Given the description of an element on the screen output the (x, y) to click on. 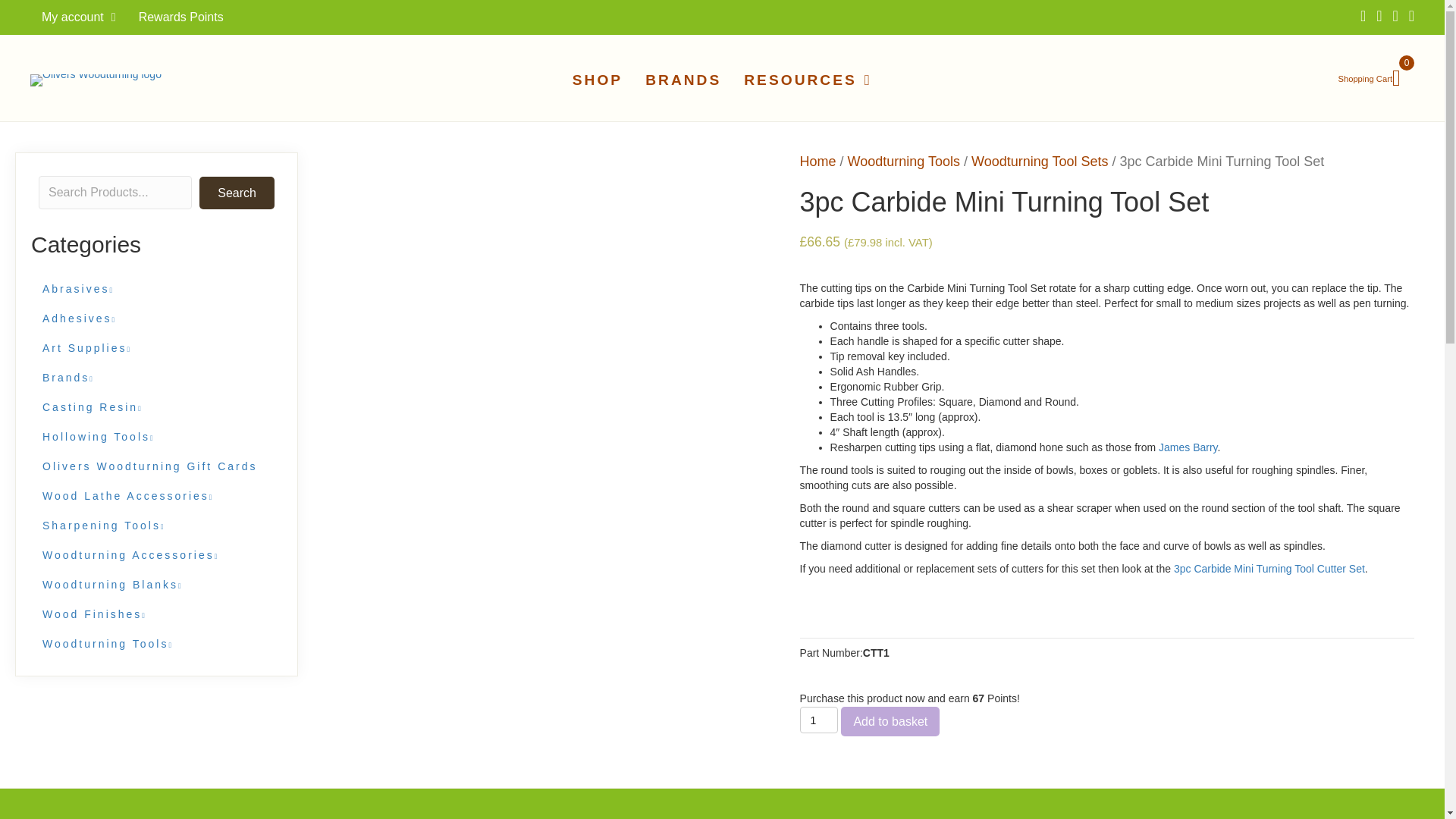
Abrasives (154, 289)
SHOP (597, 80)
Rewards Points (181, 17)
BRANDS (683, 80)
Olivers Woodturning logo (95, 80)
RESOURCES (807, 80)
Search (237, 192)
1 (818, 719)
My account (78, 17)
